Given the description of an element on the screen output the (x, y) to click on. 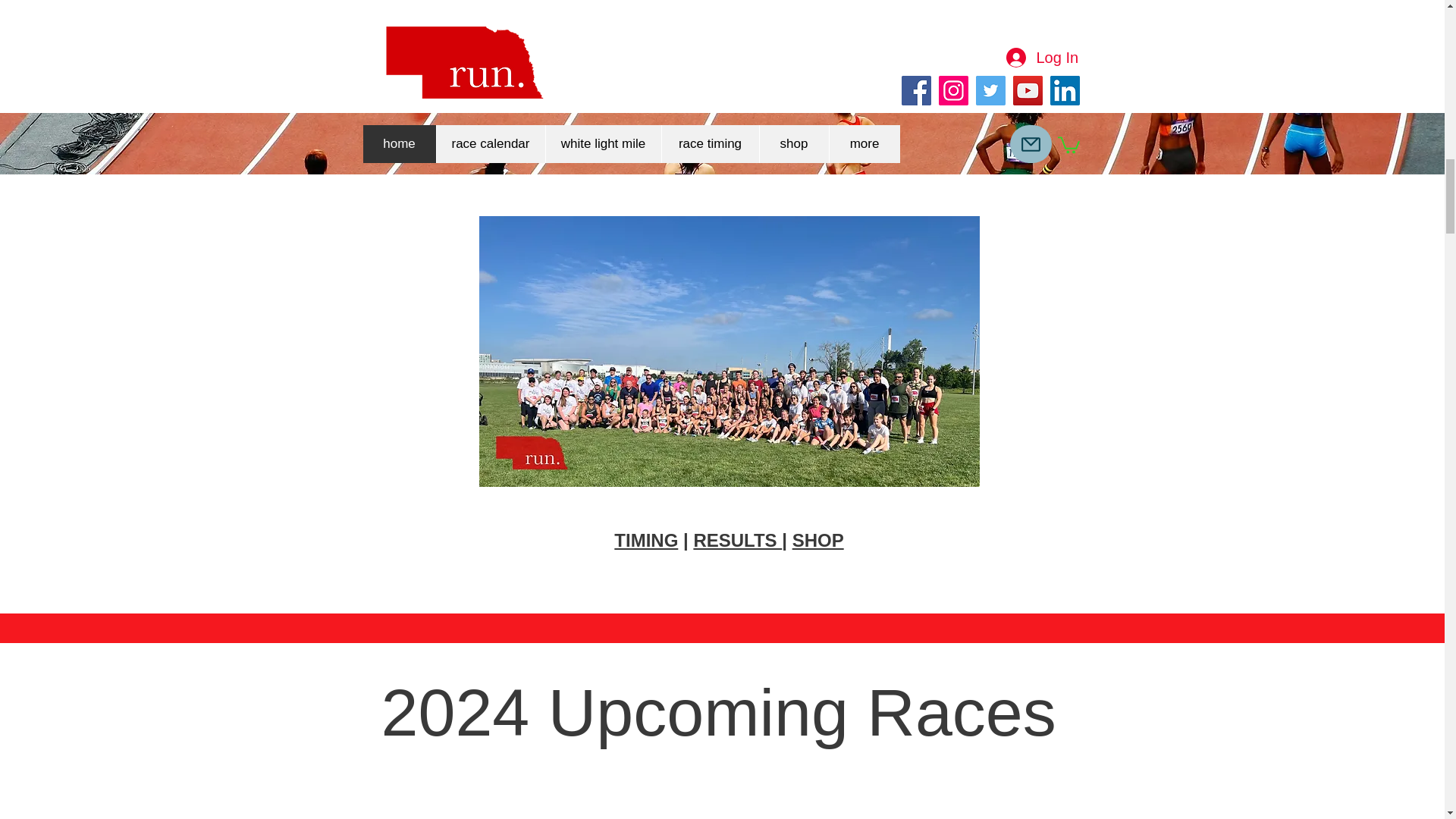
RESULTS  (737, 539)
White Light Mile Info (709, 150)
WLM logo 1.jpg (710, 60)
TIMING (646, 539)
SHOP (818, 539)
